Given the description of an element on the screen output the (x, y) to click on. 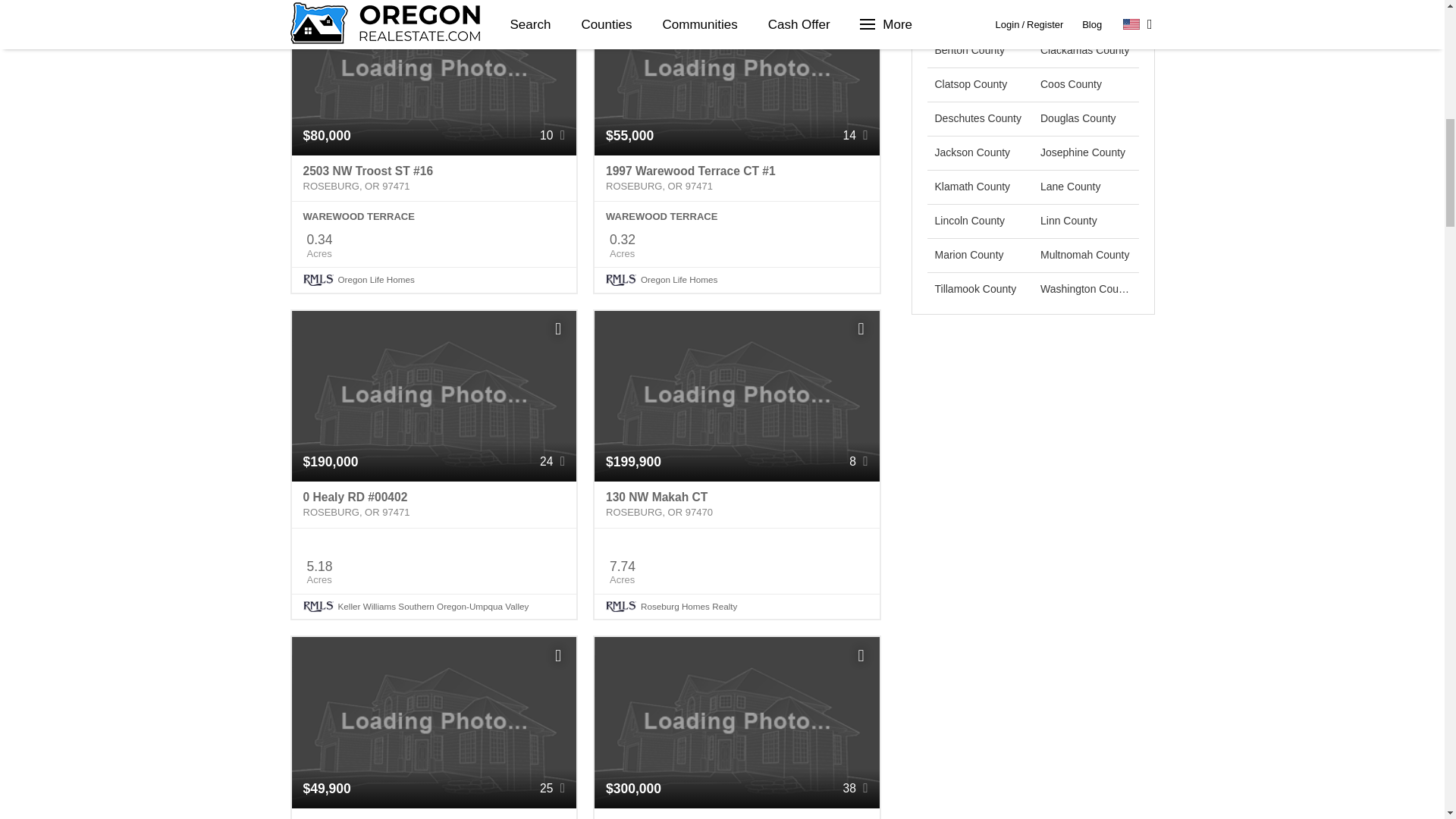
2055 W Military AVE Roseburg,  OR 97471 (433, 813)
130 NW Makah CT Roseburg,  OR 97470 (736, 504)
